Given the description of an element on the screen output the (x, y) to click on. 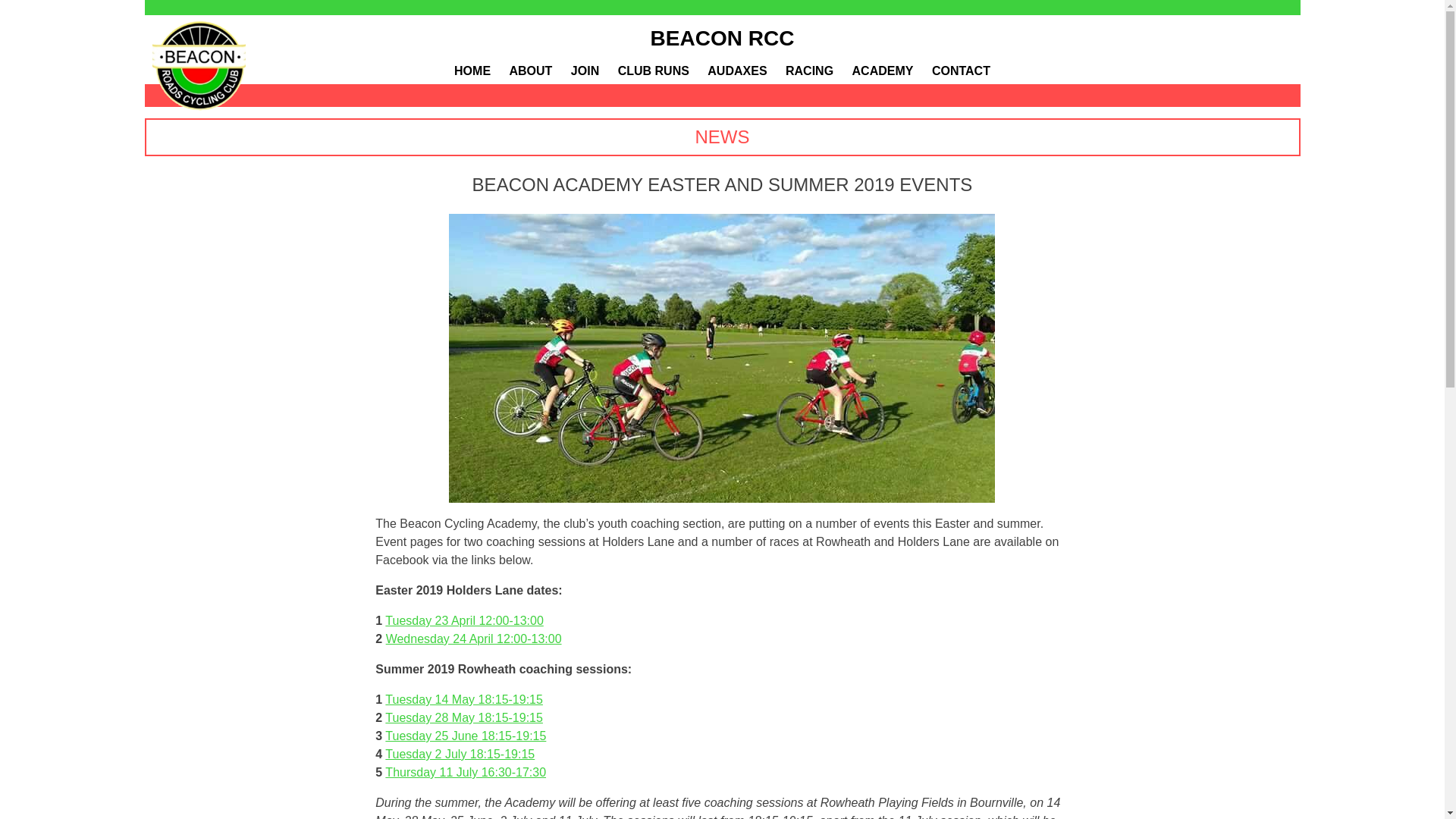
Tuesday 28 May 18:15-19:15 (464, 717)
ABOUT (531, 71)
AUDAXES (737, 71)
ACADEMY (882, 71)
Tuesday 2 July 18:15-19:15 (459, 753)
Thursday 11 July 16:30-17:30 (465, 771)
CLUB RUNS (652, 71)
JOIN (584, 71)
HOME (472, 71)
Tuesday 25 June 18:15-19:15 (465, 735)
CONTACT (960, 71)
Wednesday 24 April 12:00-13:00 (473, 638)
RACING (809, 71)
BEACON RCC (722, 37)
Tuesday 14 May 18:15-19:15 (464, 698)
